Given the description of an element on the screen output the (x, y) to click on. 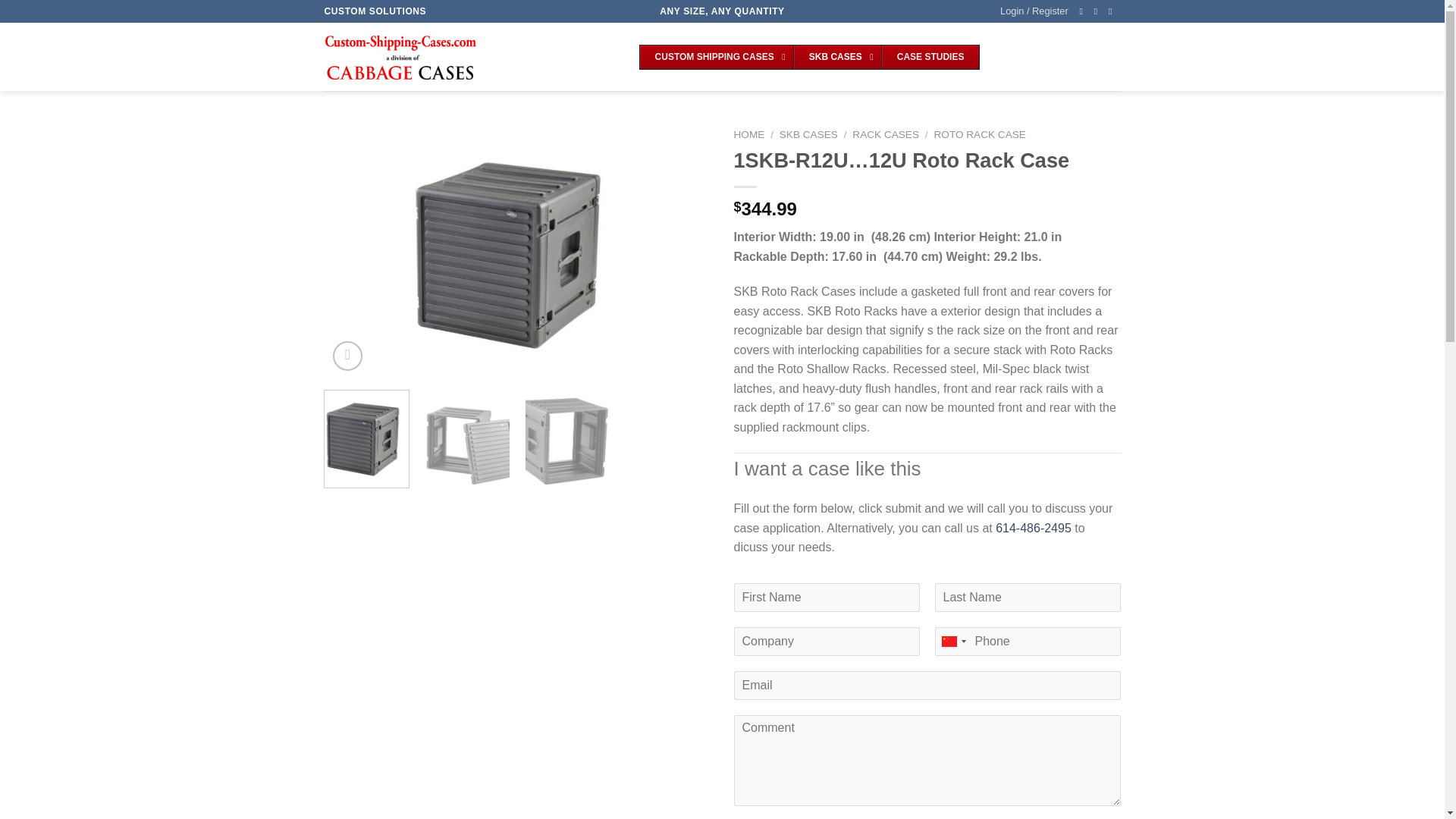
614-486-2495 (809, 57)
Zoom (1033, 527)
CUSTOM SHIPPING CASES (347, 356)
SKB CASES (716, 57)
HOME (808, 134)
RACK CASES (749, 134)
ROTO RACK CASE (884, 134)
SKB CASES (979, 134)
CASE STUDIES (836, 57)
Custom Shipping Cases (929, 57)
